Given the description of an element on the screen output the (x, y) to click on. 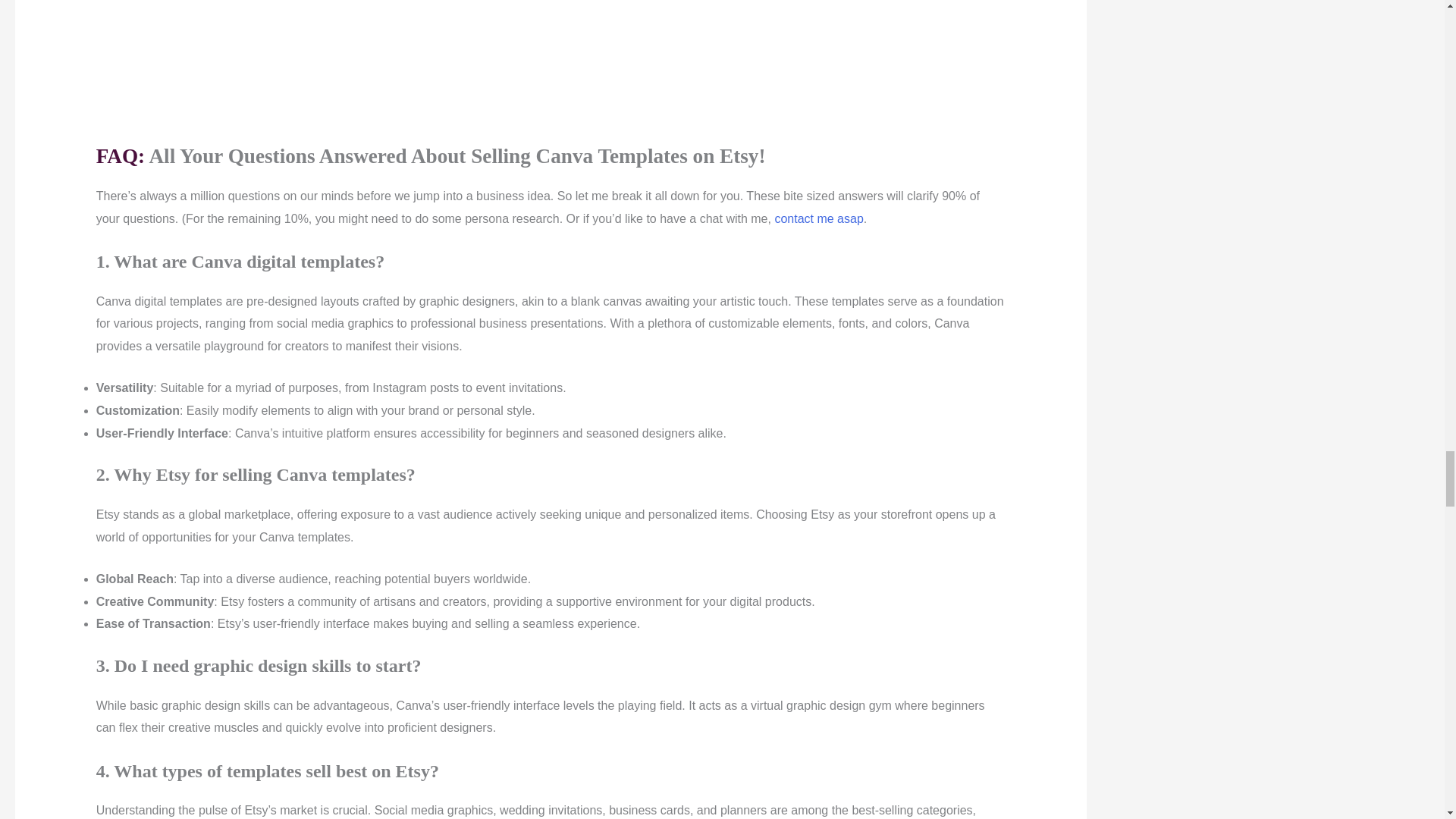
contact me asap (818, 218)
